Given the description of an element on the screen output the (x, y) to click on. 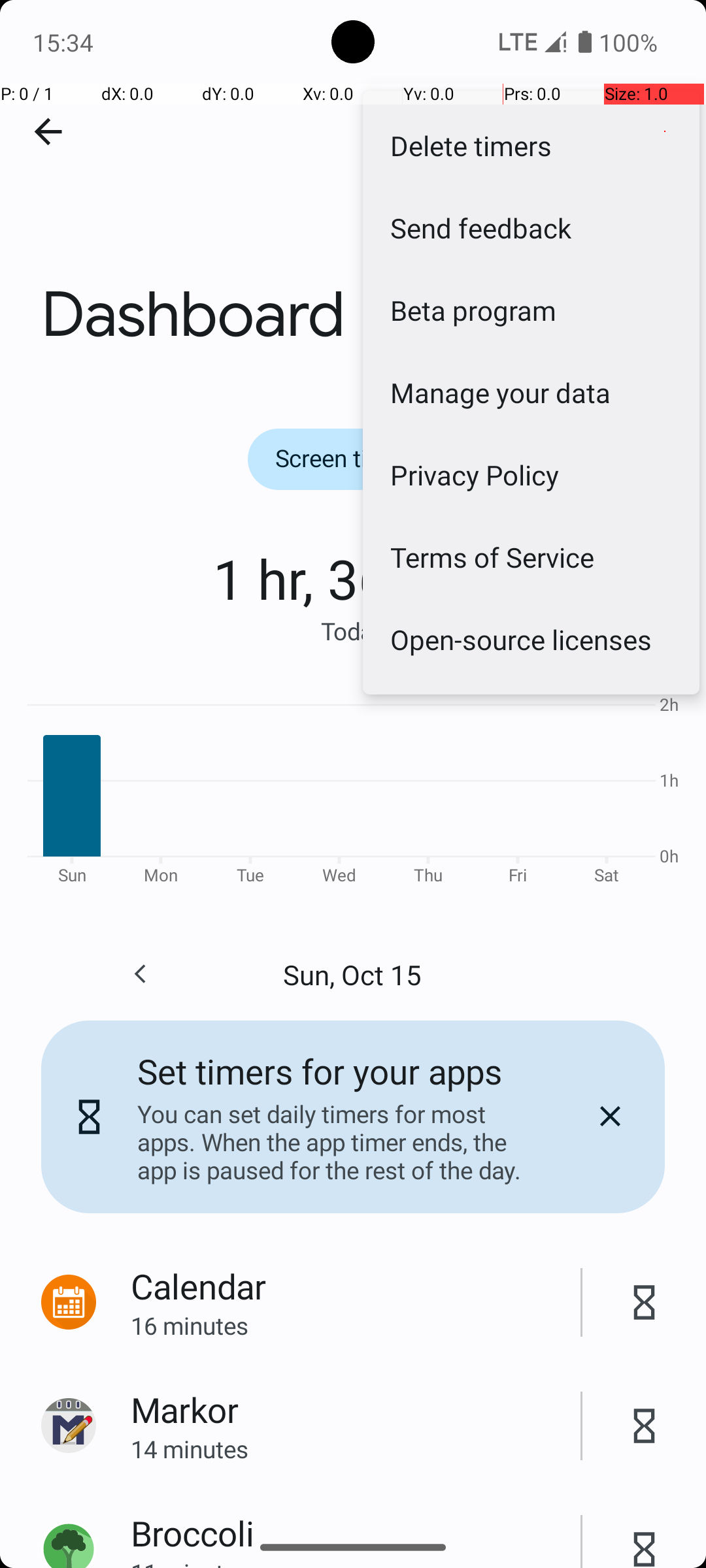
Delete timers Element type: android.widget.TextView (531, 144)
Beta program Element type: android.widget.TextView (531, 309)
Manage your data Element type: android.widget.TextView (531, 391)
Open-source licenses Element type: android.widget.TextView (531, 638)
